Given the description of an element on the screen output the (x, y) to click on. 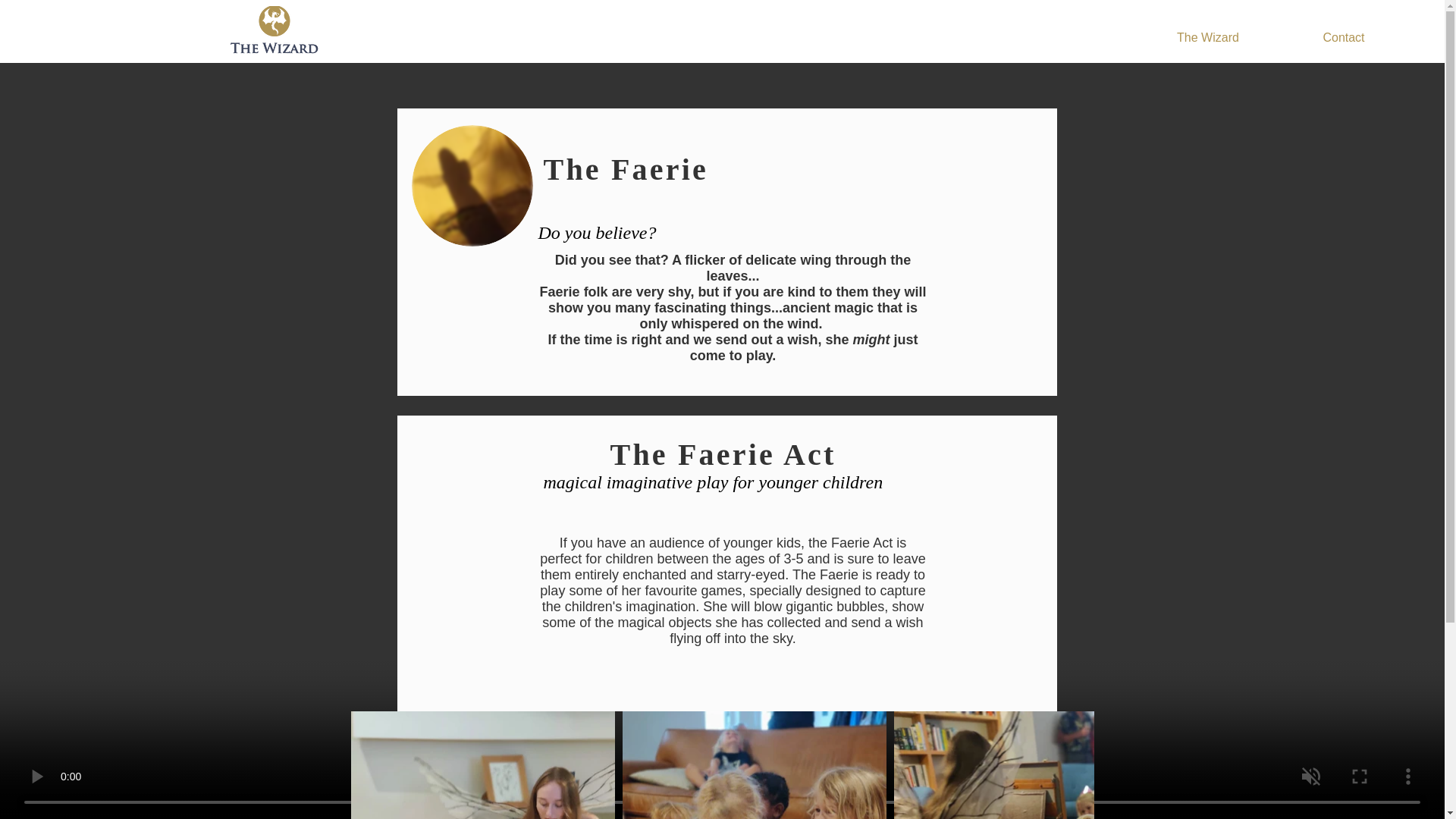
The Wizard (1208, 37)
The Wizard.png (274, 30)
Contact (1343, 37)
